Given the description of an element on the screen output the (x, y) to click on. 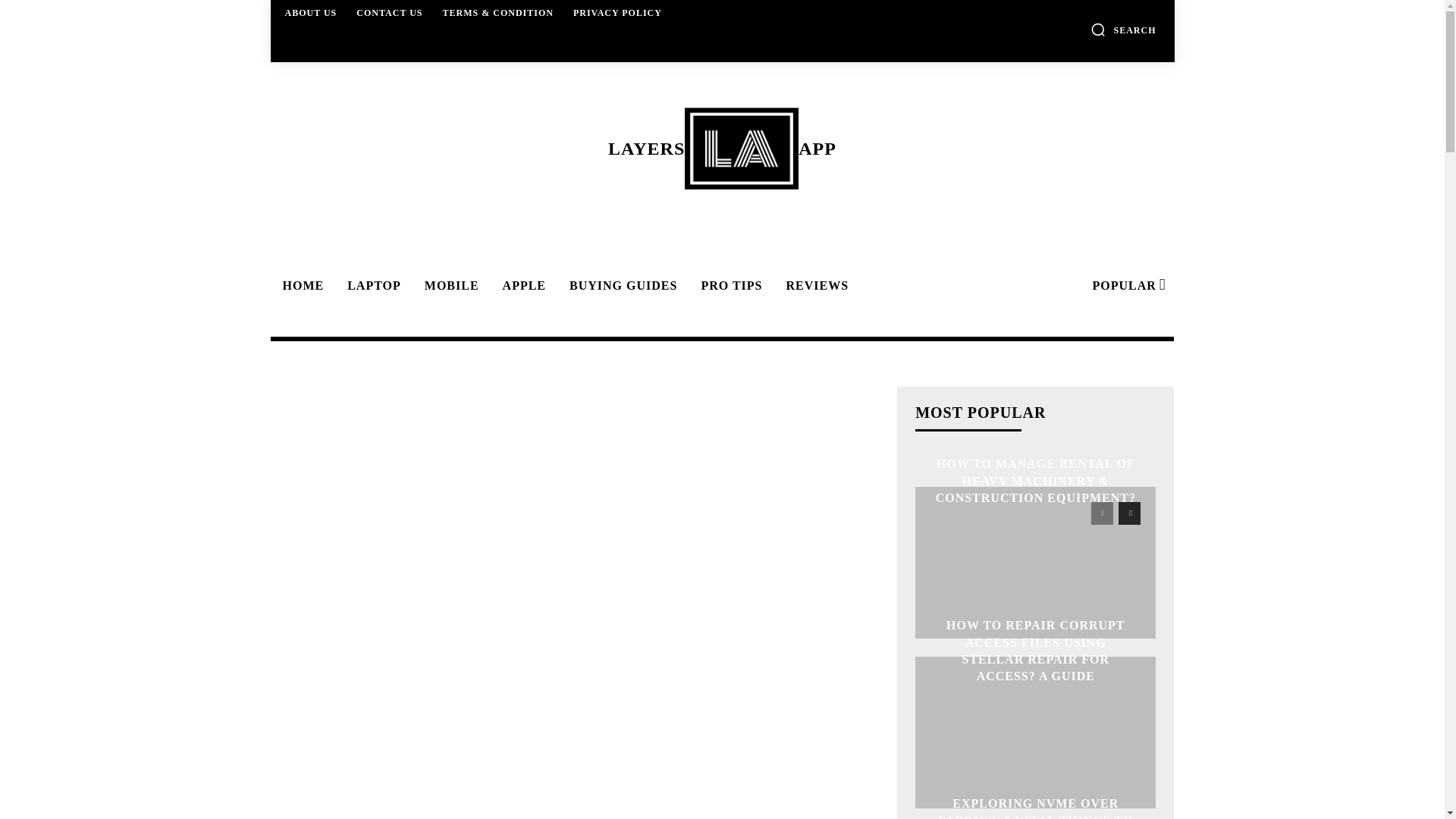
MOBILE (449, 285)
PRIVACY POLICY (617, 12)
CONTACT US (389, 12)
ABOUT US (311, 12)
POPULAR (1126, 285)
HOME (300, 285)
LAPTOP (371, 285)
REVIEWS (814, 285)
BUYING GUIDES (620, 285)
PRO TIPS (729, 285)
